Given the description of an element on the screen output the (x, y) to click on. 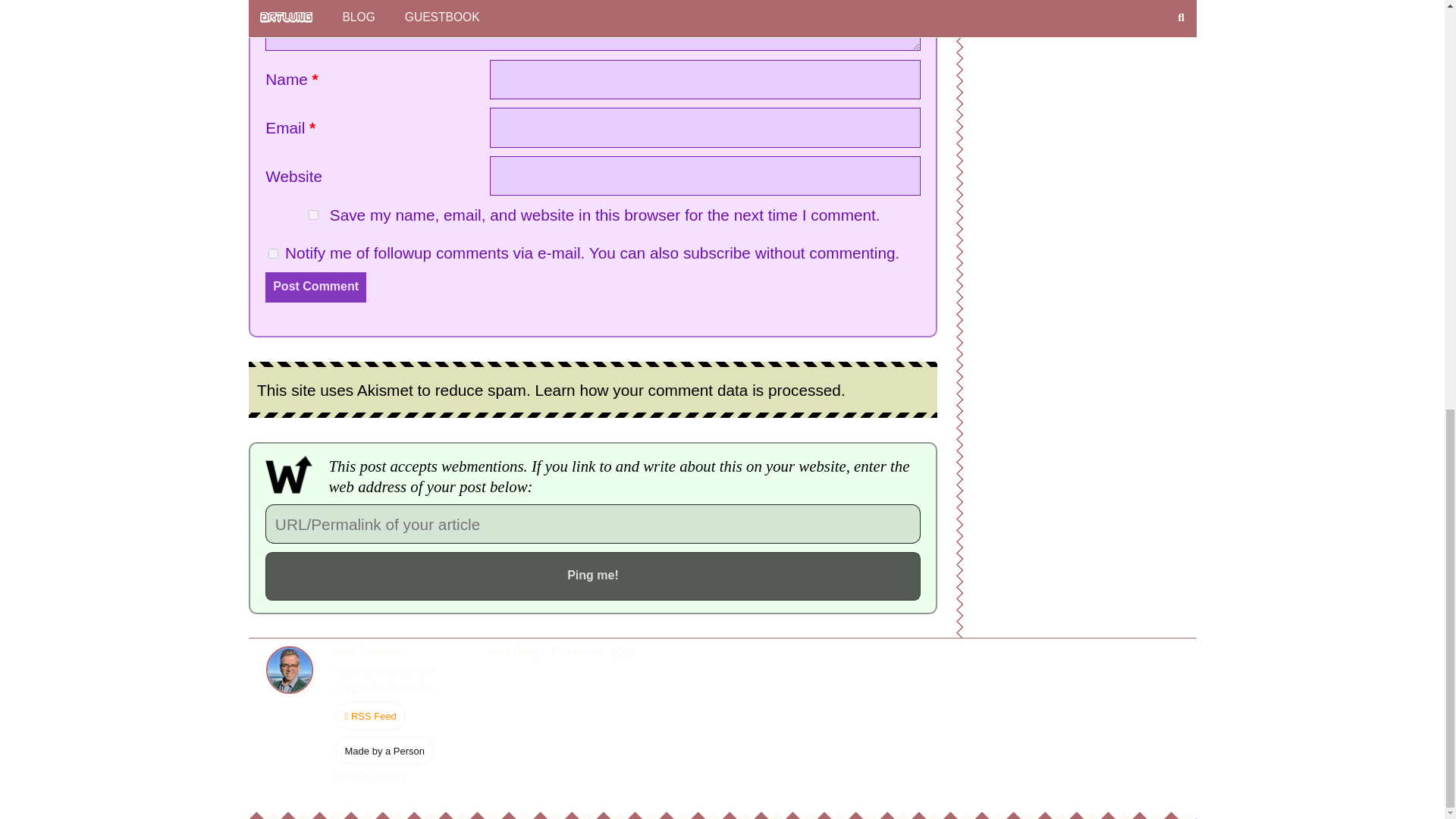
yes (272, 253)
Post Comment (315, 287)
Ping me! (592, 576)
yes (313, 214)
Ping me! (592, 576)
Post Comment (315, 287)
Learn how your comment data is processed (687, 390)
subscribe (716, 252)
